Given the description of an element on the screen output the (x, y) to click on. 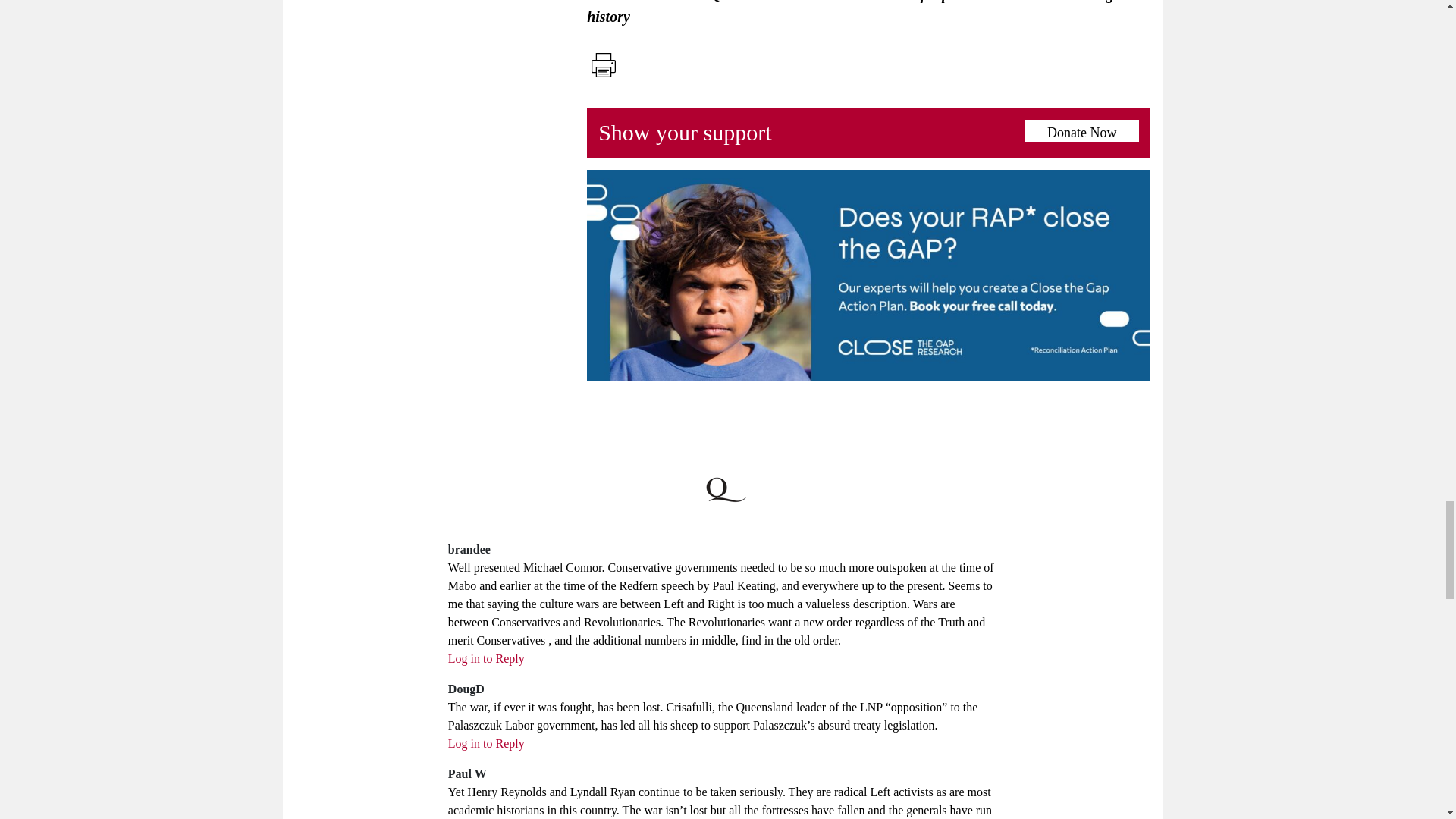
Print article (603, 64)
